Given the description of an element on the screen output the (x, y) to click on. 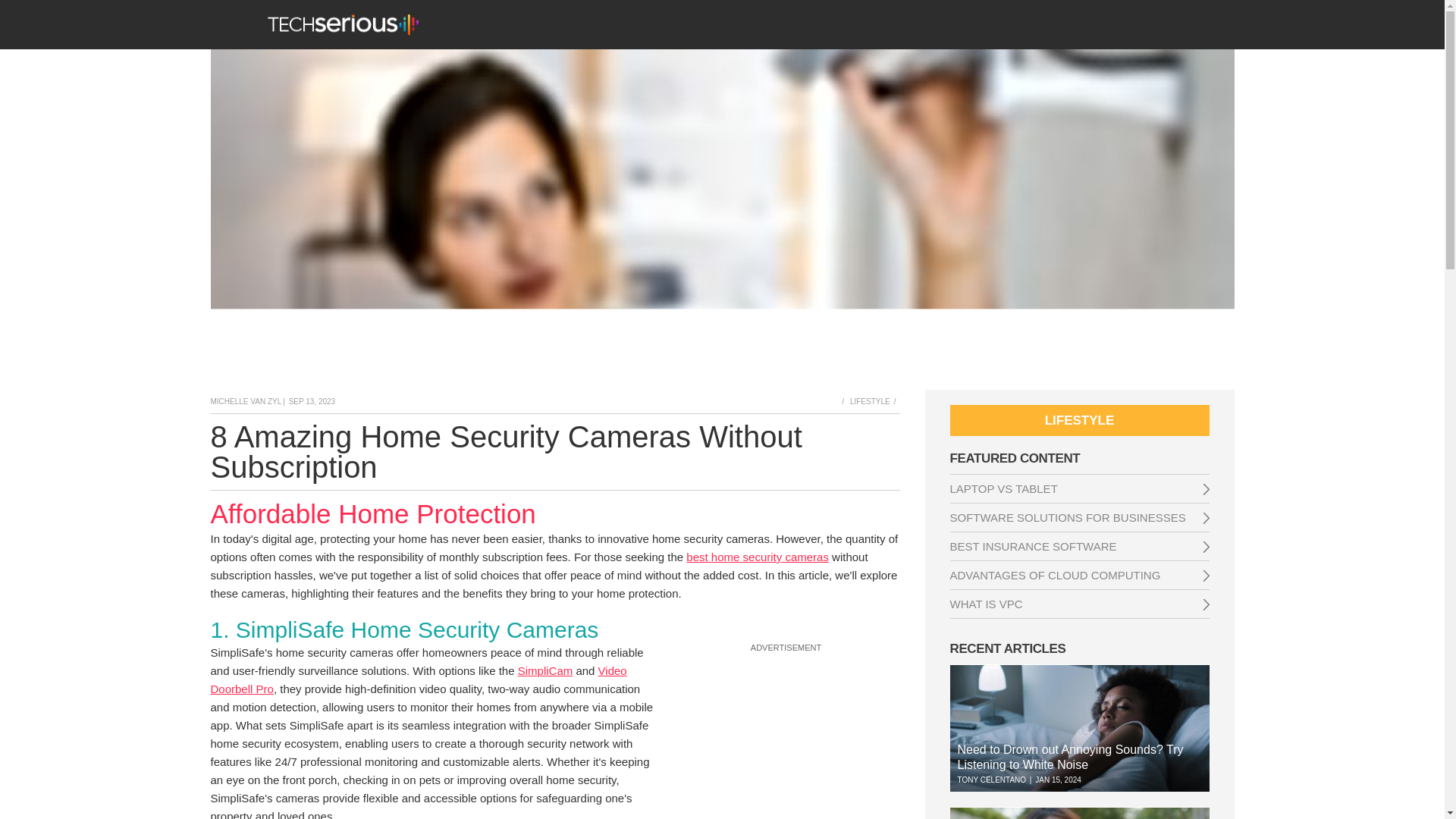
TechSerious (341, 24)
